Given the description of an element on the screen output the (x, y) to click on. 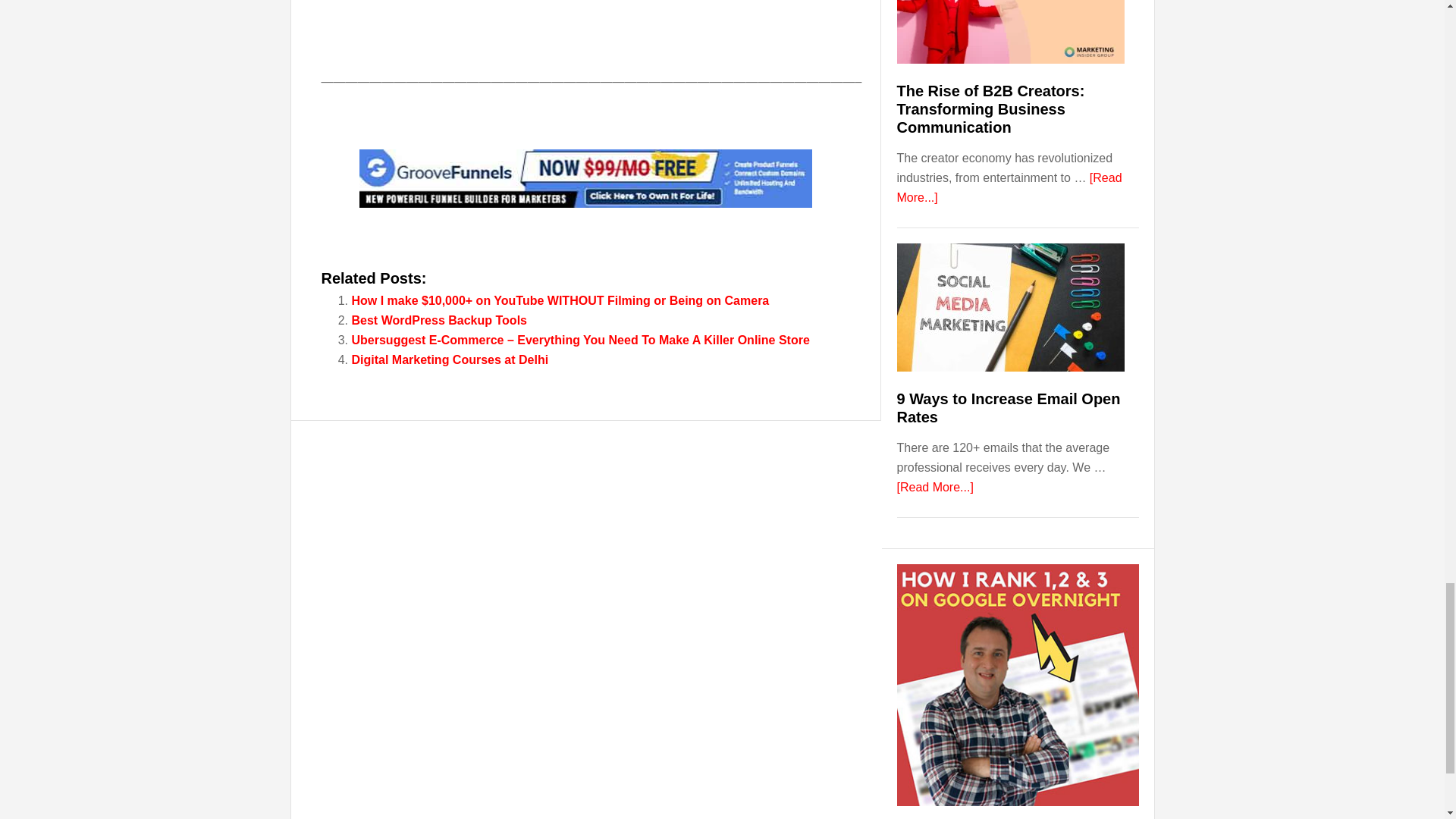
Digital Marketing Courses at Delhi (450, 359)
Digital Marketing Courses at Delhi (450, 359)
Best WordPress Backup Tools (439, 319)
Best WordPress Backup Tools (439, 319)
